Given the description of an element on the screen output the (x, y) to click on. 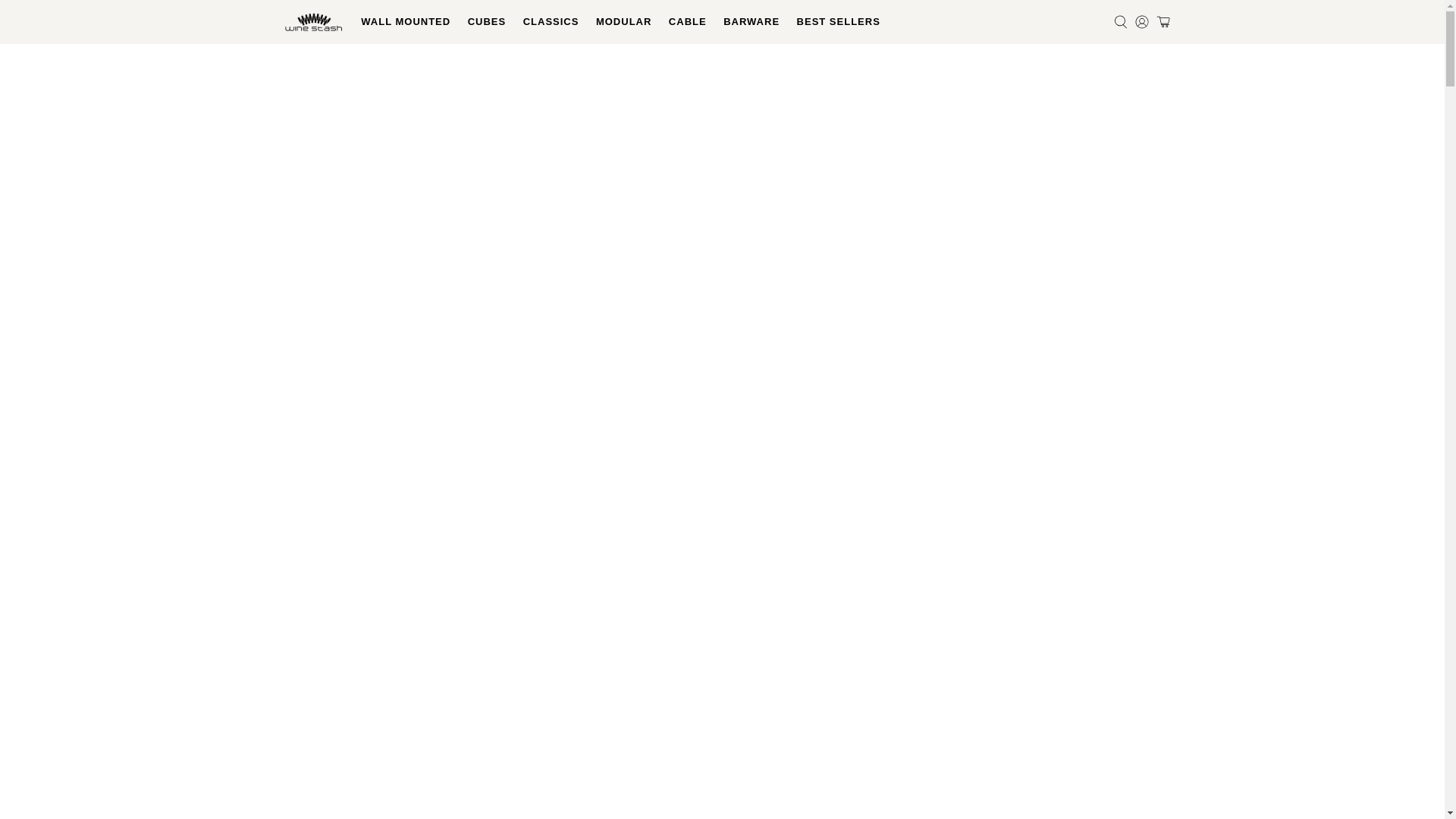
BEST SELLERS (837, 21)
CLASSICS (549, 21)
BARWARE (750, 21)
Wine Stash (313, 21)
CUBES (485, 21)
MODULAR (624, 21)
WALL MOUNTED (405, 21)
CABLE (687, 21)
